Given the description of an element on the screen output the (x, y) to click on. 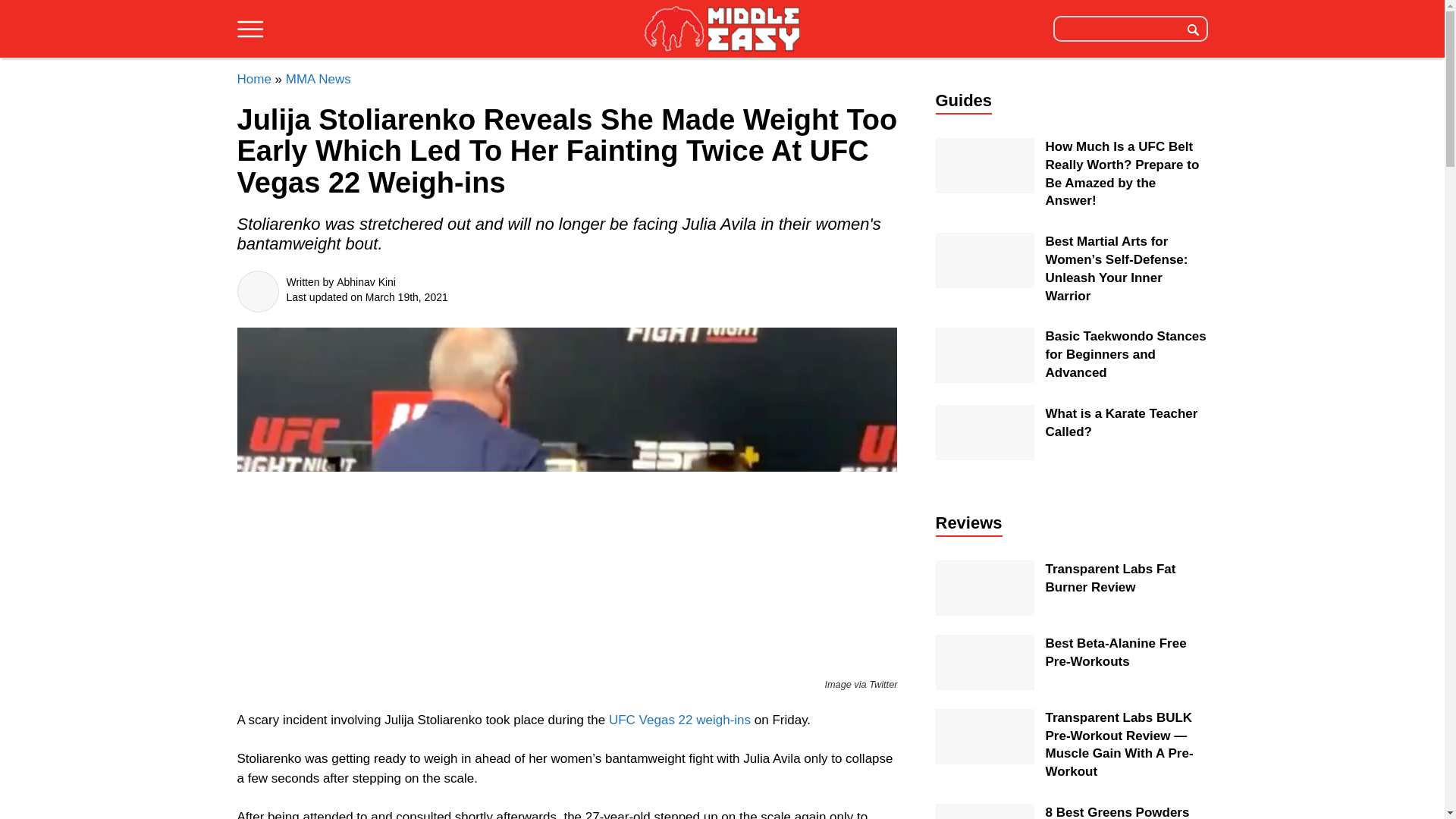
GO (1193, 28)
MiddleEasy (721, 29)
MiddleEasy (721, 28)
